Given the description of an element on the screen output the (x, y) to click on. 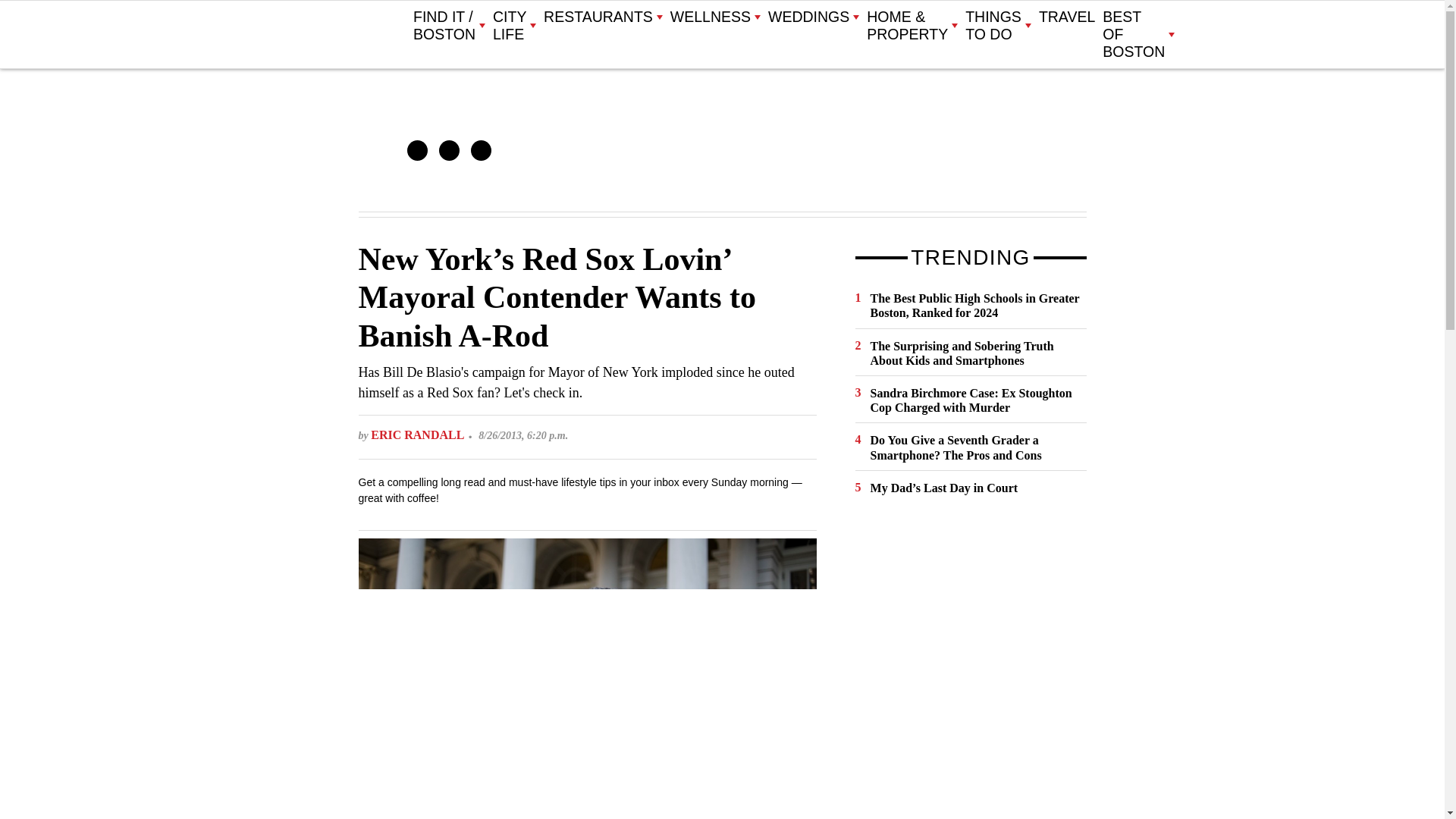
THINGS TO DO (997, 25)
RESTAURANTS (602, 16)
WEDDINGS (813, 16)
WELLNESS (714, 16)
